Given the description of an element on the screen output the (x, y) to click on. 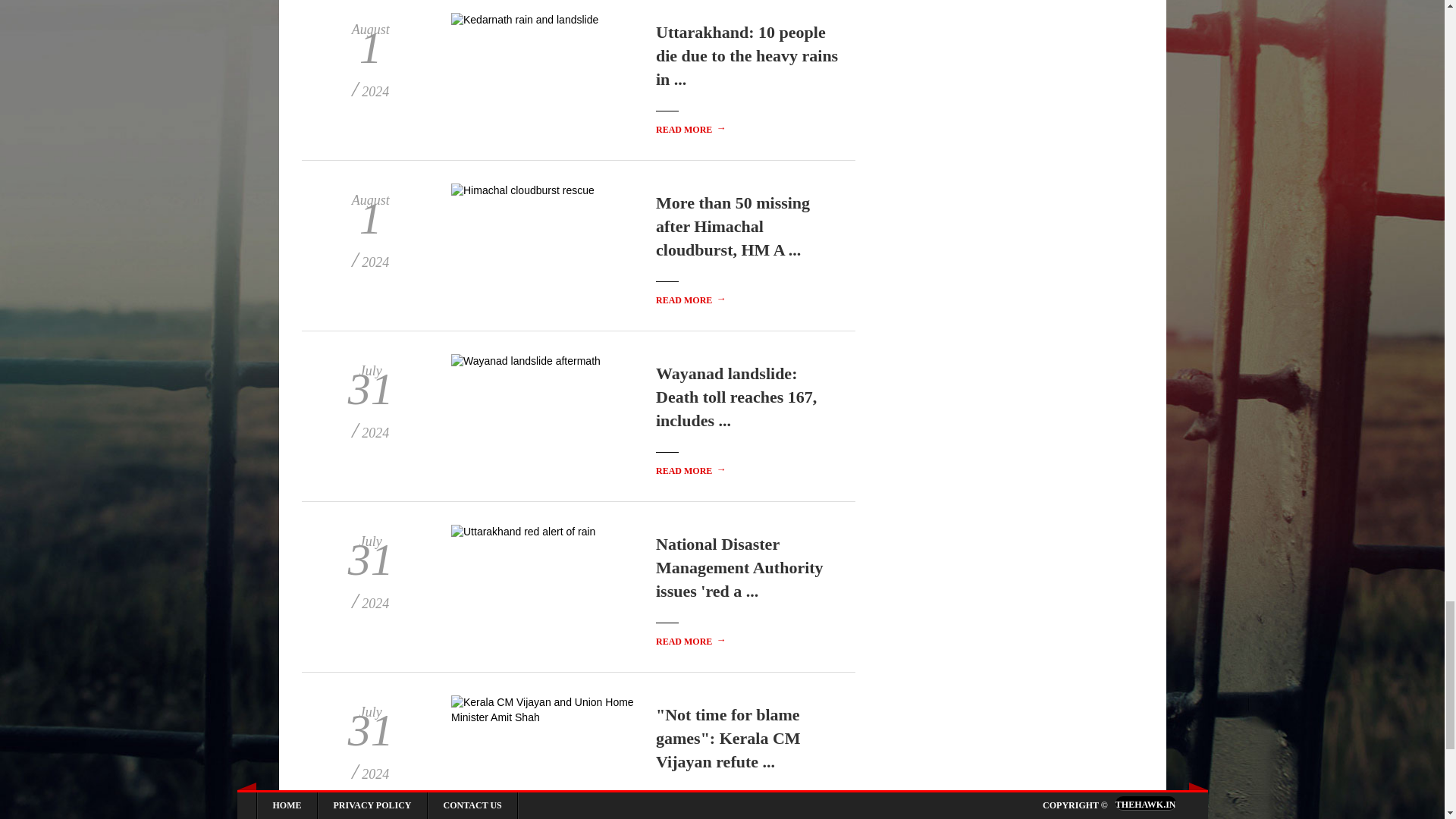
More than 50 missing after Himachal cloudburst, HM A ... (732, 226)
National Disaster Management Authority issues 'red a ... (740, 567)
Wayanad landslide: Death toll reaches 167, includes ... (736, 396)
Uttarakhand: 10 people die due to the heavy rains in ... (747, 55)
